Given the description of an element on the screen output the (x, y) to click on. 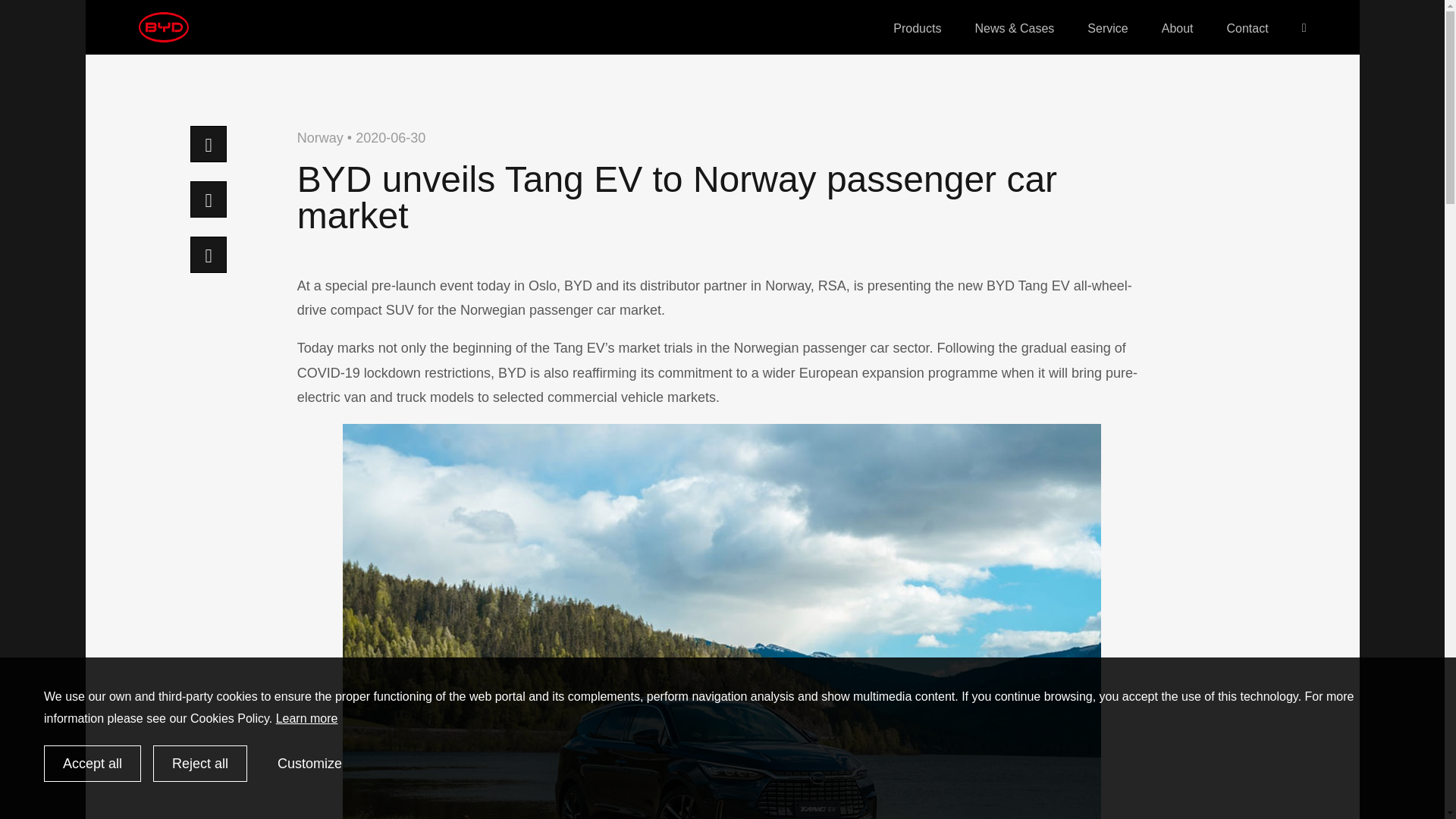
Learn more (306, 717)
